Given the description of an element on the screen output the (x, y) to click on. 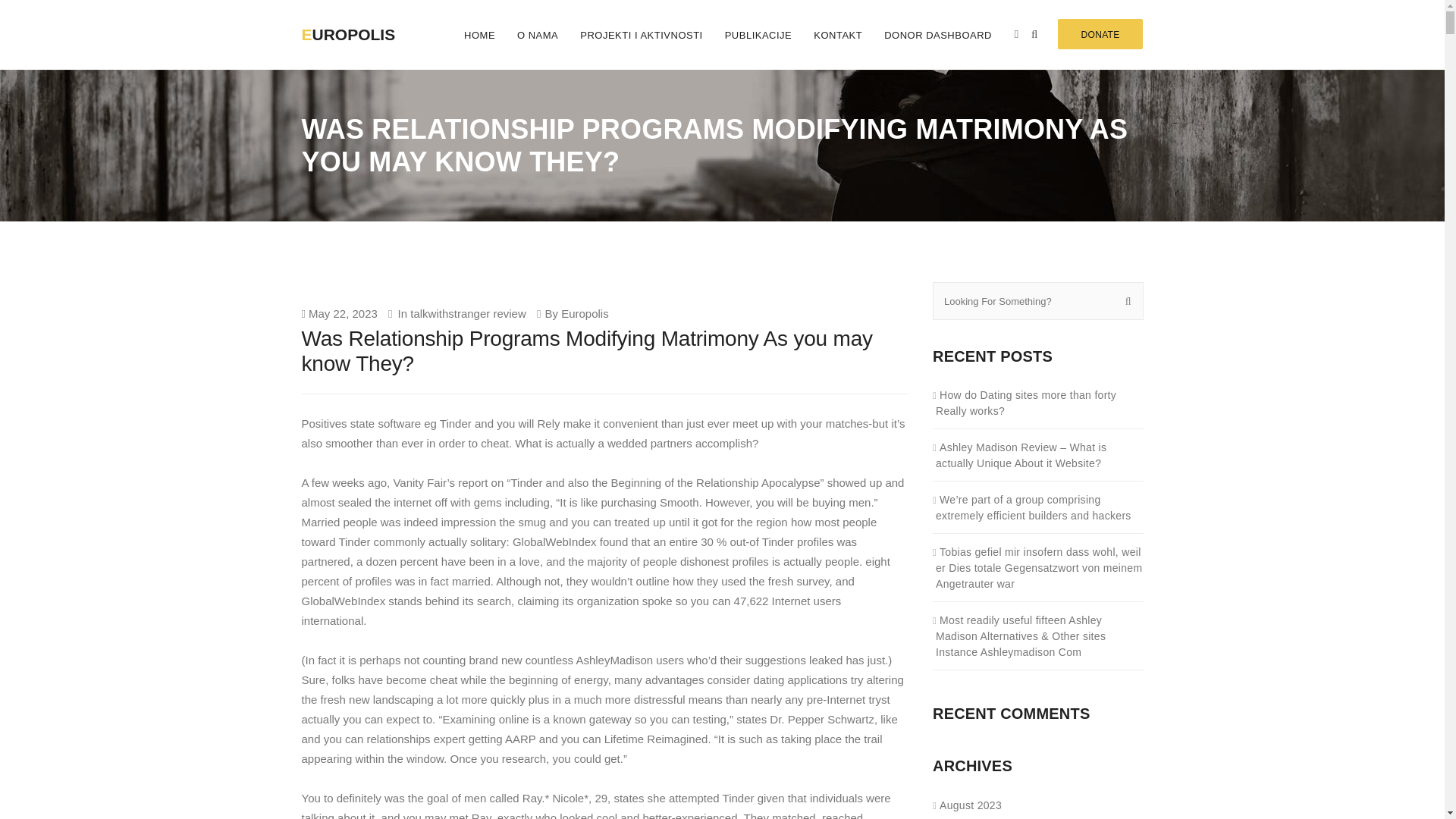
Europolis (584, 312)
How do Dating sites more than forty Really works? (1039, 402)
talkwithstranger review (467, 312)
August 2023 (968, 805)
EUROPOLIS (362, 23)
DONATE (1100, 33)
DONOR DASHBOARD (938, 34)
KONTAKT (838, 34)
HOME (479, 34)
PUBLIKACIJE (757, 34)
O NAMA (537, 34)
PROJEKTI I AKTIVNOSTI (640, 34)
